Given the description of an element on the screen output the (x, y) to click on. 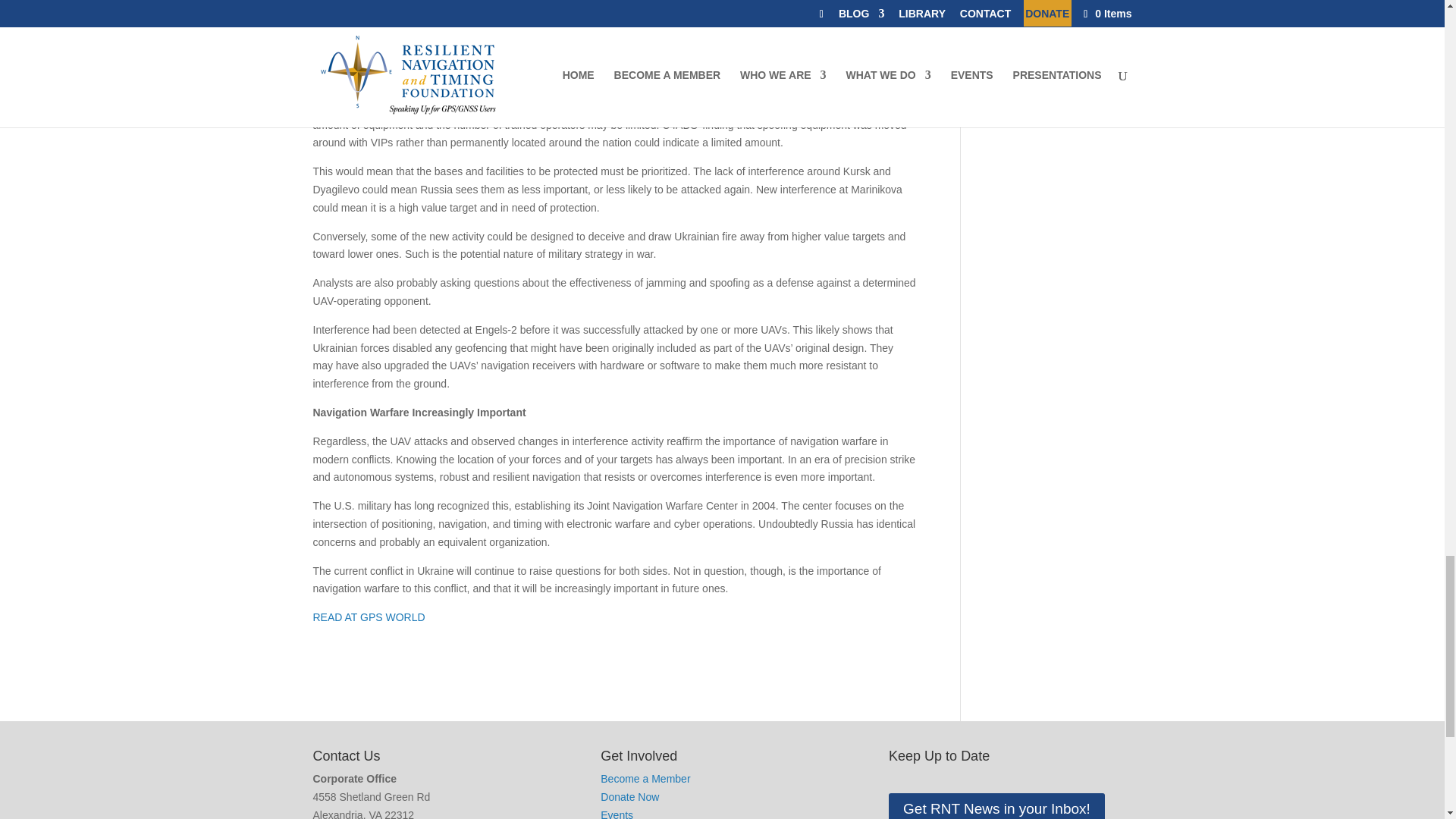
READ AT GPS WORLD (369, 616)
